Given the description of an element on the screen output the (x, y) to click on. 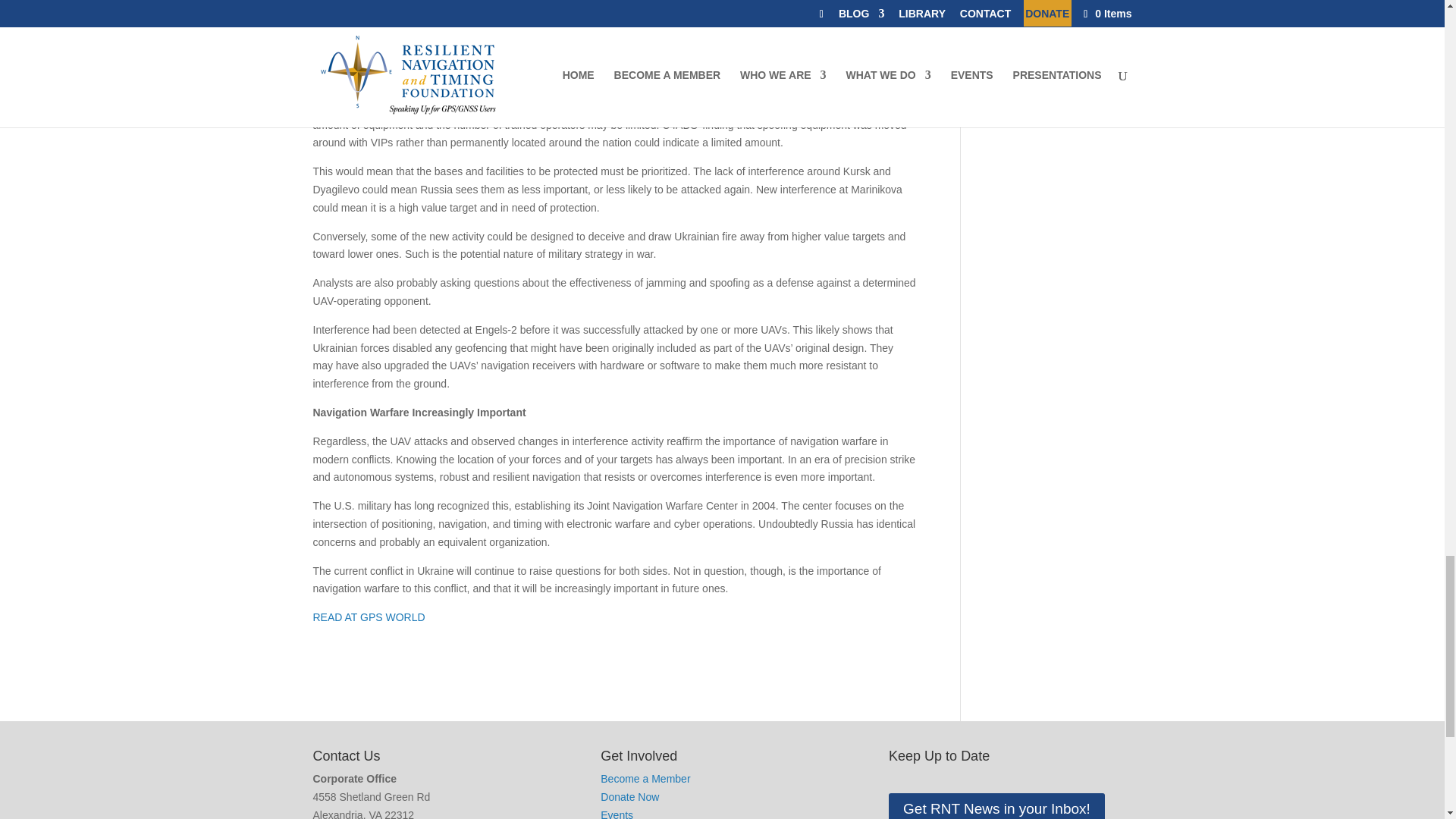
READ AT GPS WORLD (369, 616)
